Given the description of an element on the screen output the (x, y) to click on. 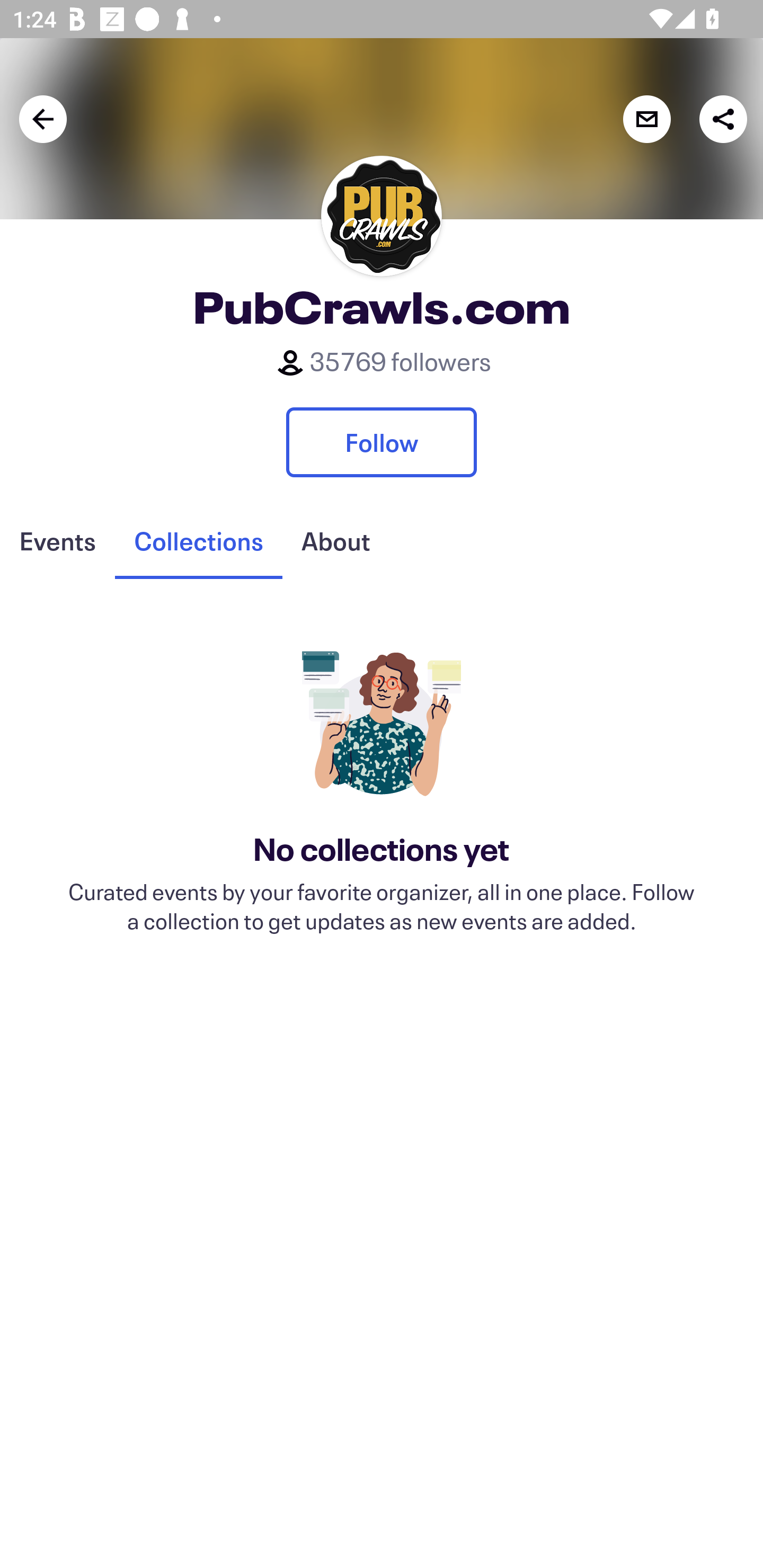
Back navigation arrow (43, 118)
Contact organizer (646, 118)
Share with friends (722, 118)
Follow (381, 441)
Events (57, 540)
About (335, 540)
